Given the description of an element on the screen output the (x, y) to click on. 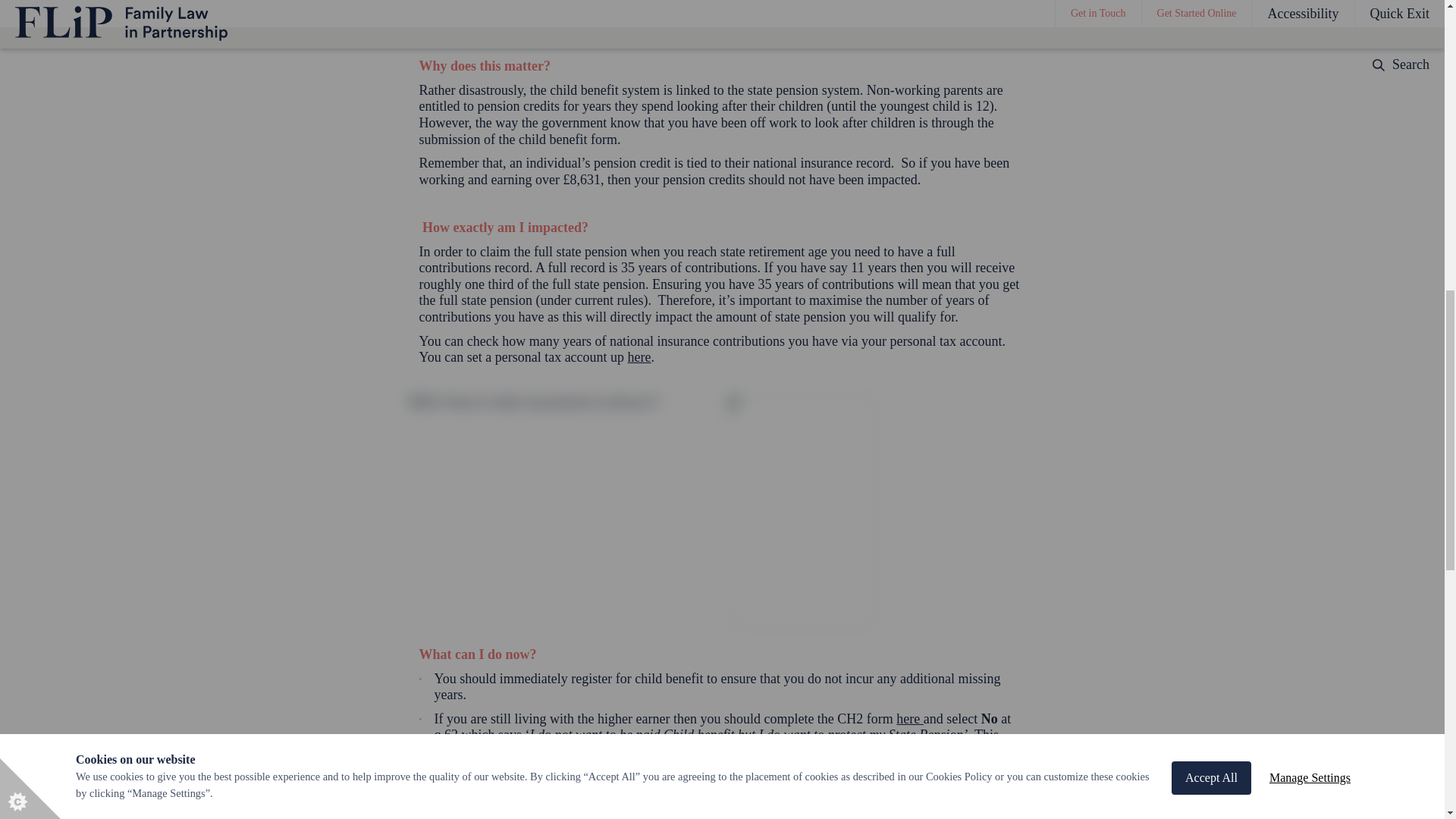
here (909, 718)
Accept All (1211, 17)
Manage Settings (1309, 12)
here (638, 356)
